Given the description of an element on the screen output the (x, y) to click on. 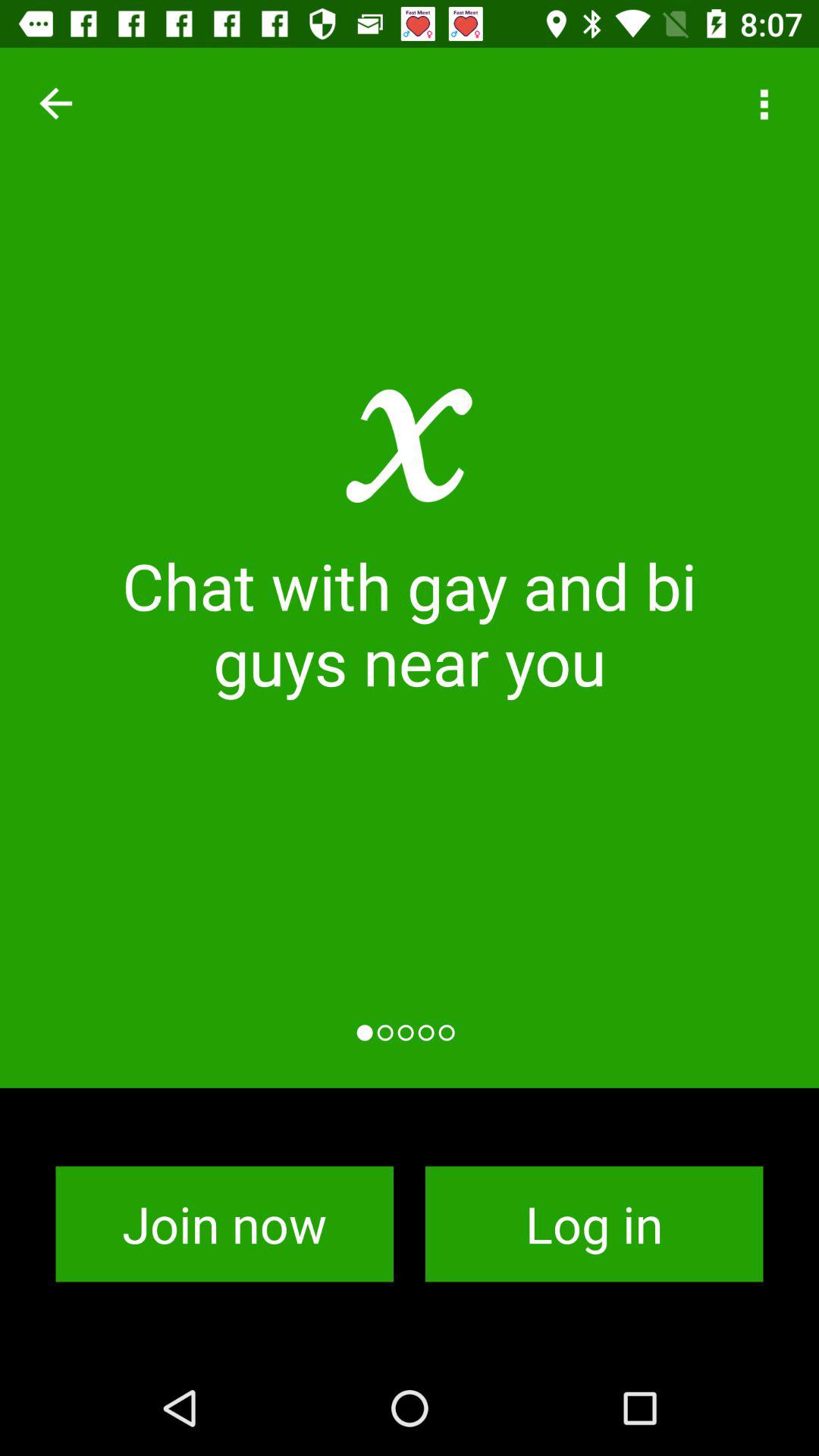
launch the log in item (594, 1223)
